Given the description of an element on the screen output the (x, y) to click on. 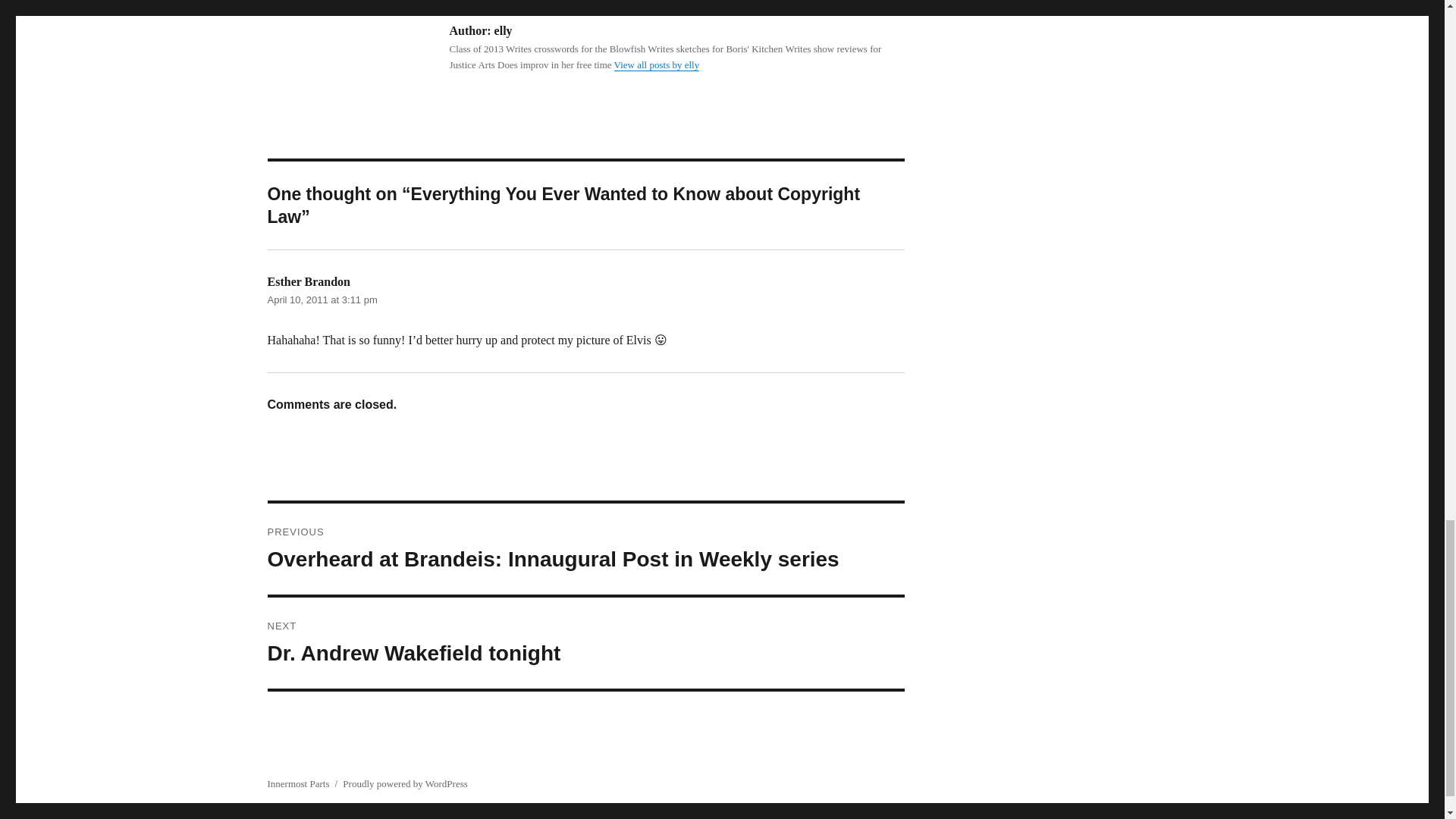
April 10, 2011 at 3:11 pm (321, 299)
View all posts by elly (657, 64)
